Given the description of an element on the screen output the (x, y) to click on. 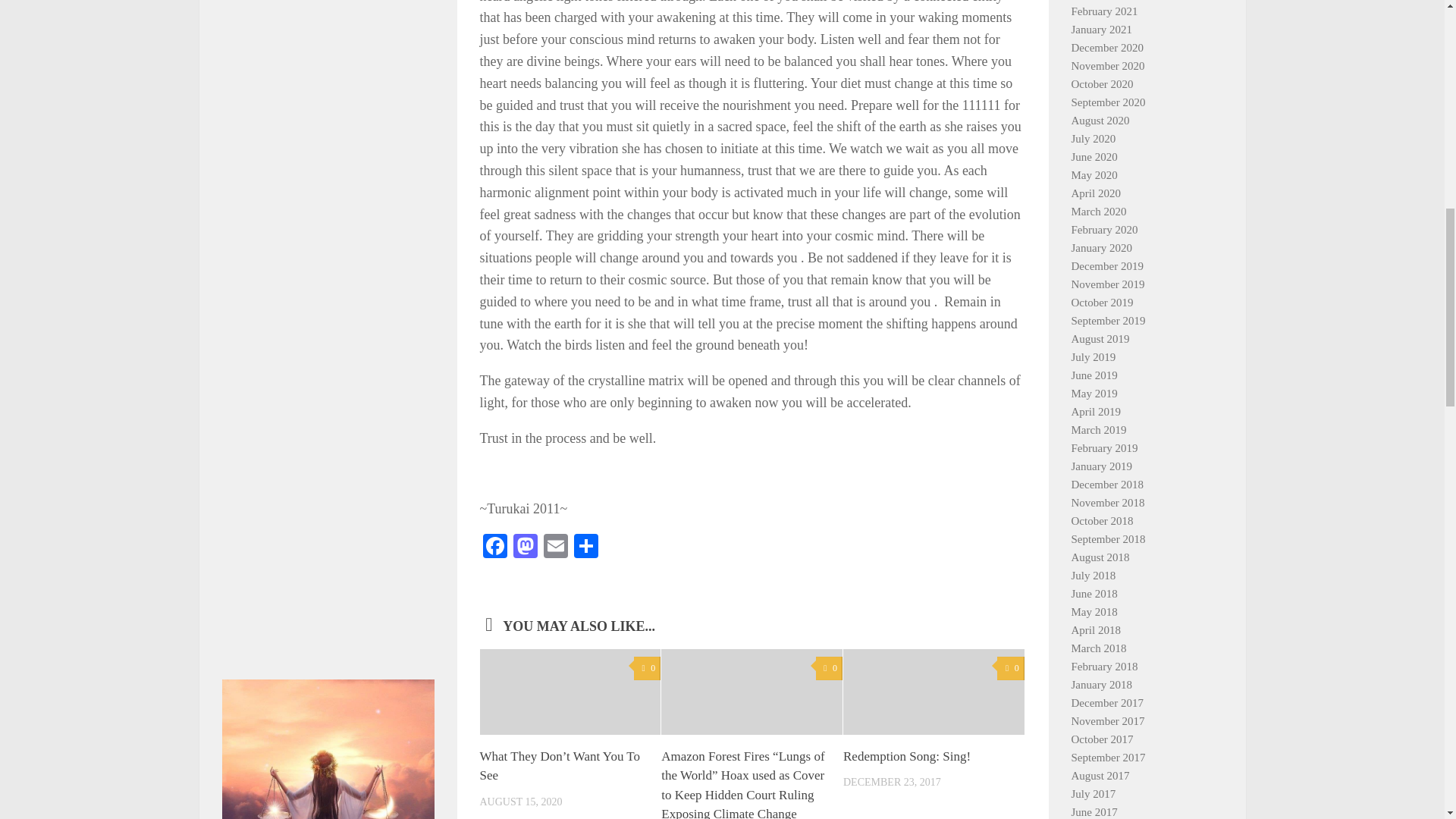
Email (555, 547)
0 (647, 668)
0 (829, 668)
Big Pharma exec turned Whistleblower (327, 561)
Mastodon (524, 547)
Mastodon (524, 547)
Email (555, 547)
